Given the description of an element on the screen output the (x, y) to click on. 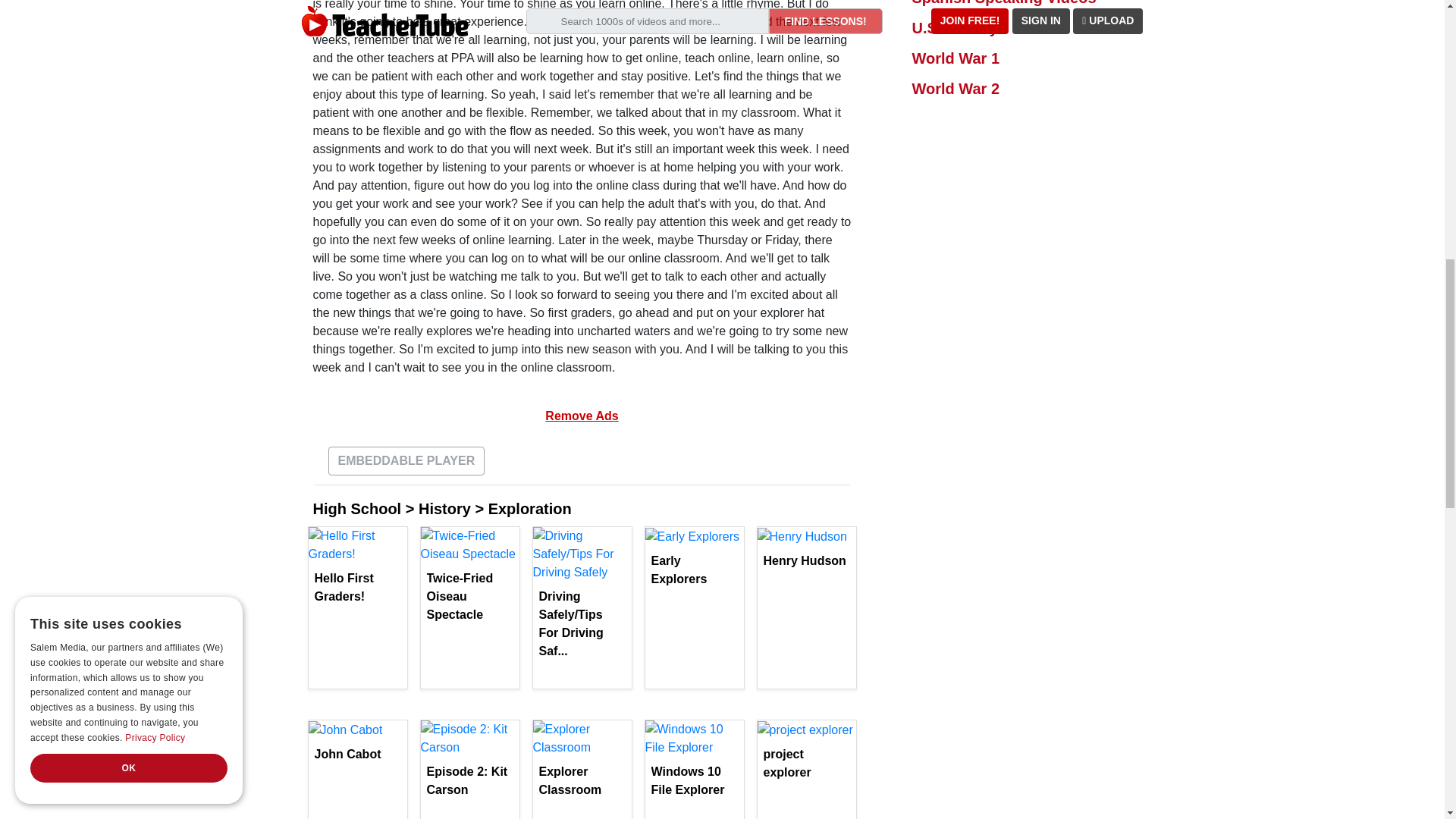
Hello First Graders! (357, 587)
Twice-Fried Oiseau Spectacle (469, 596)
